Given the description of an element on the screen output the (x, y) to click on. 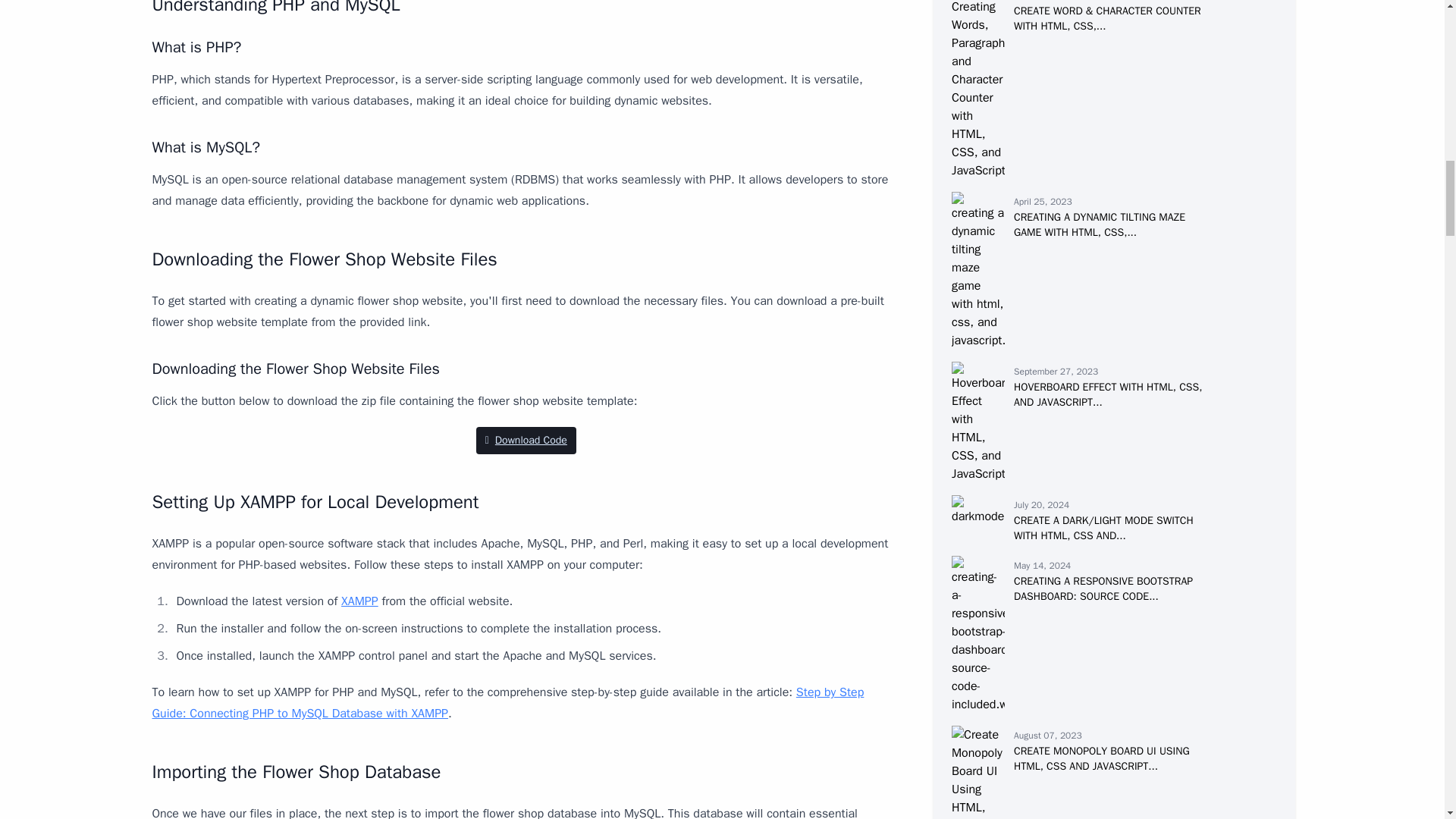
XAMPP (359, 601)
Download Code (526, 440)
